Given the description of an element on the screen output the (x, y) to click on. 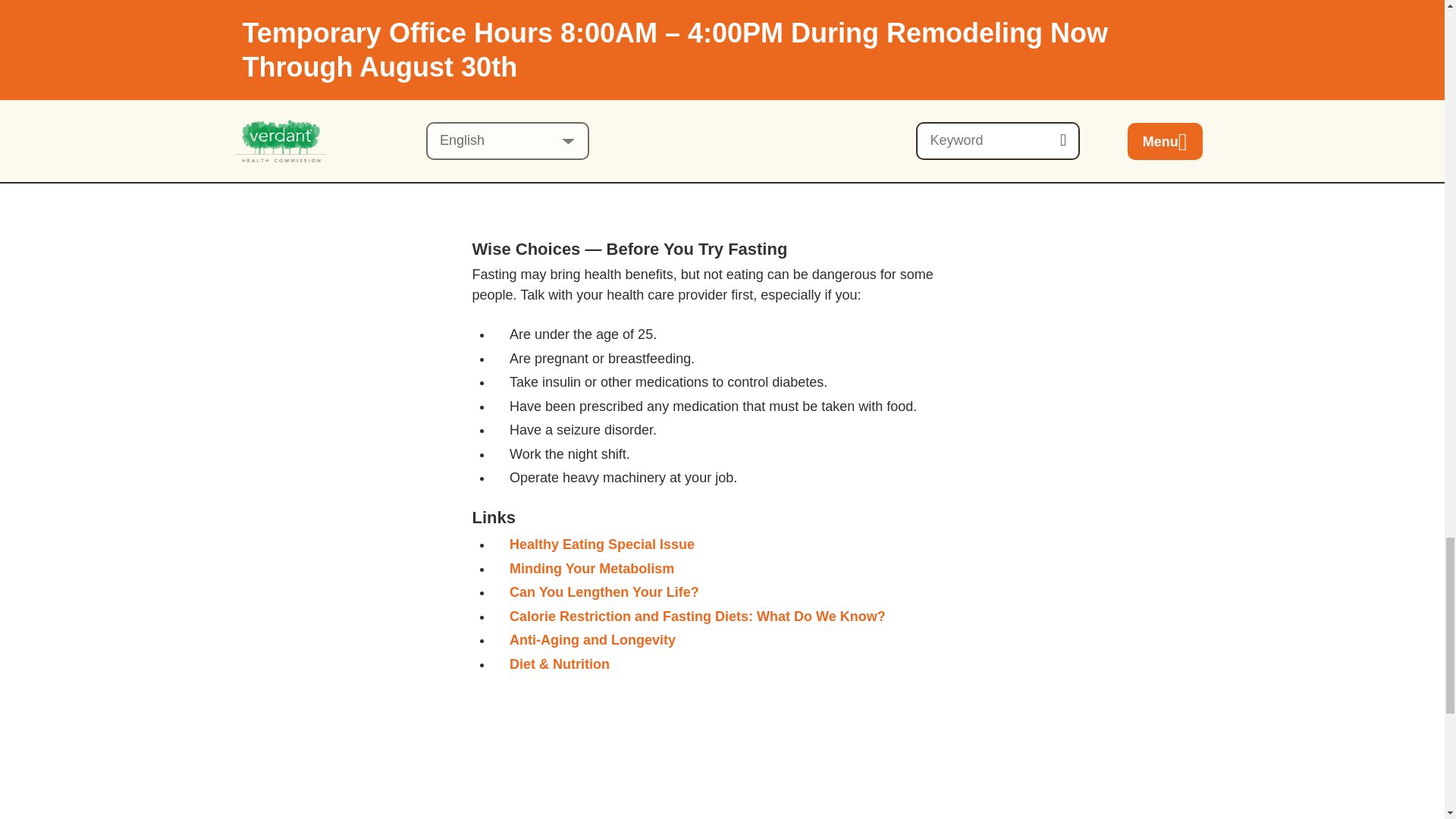
Can You Lengthen Your Life? (603, 591)
Calorie Restriction and Fasting Diets: What Do We Know? (697, 616)
Healthy Eating Special Issue (601, 544)
Anti-Aging and Longevity (592, 639)
Minding Your Metabolism (591, 568)
